Given the description of an element on the screen output the (x, y) to click on. 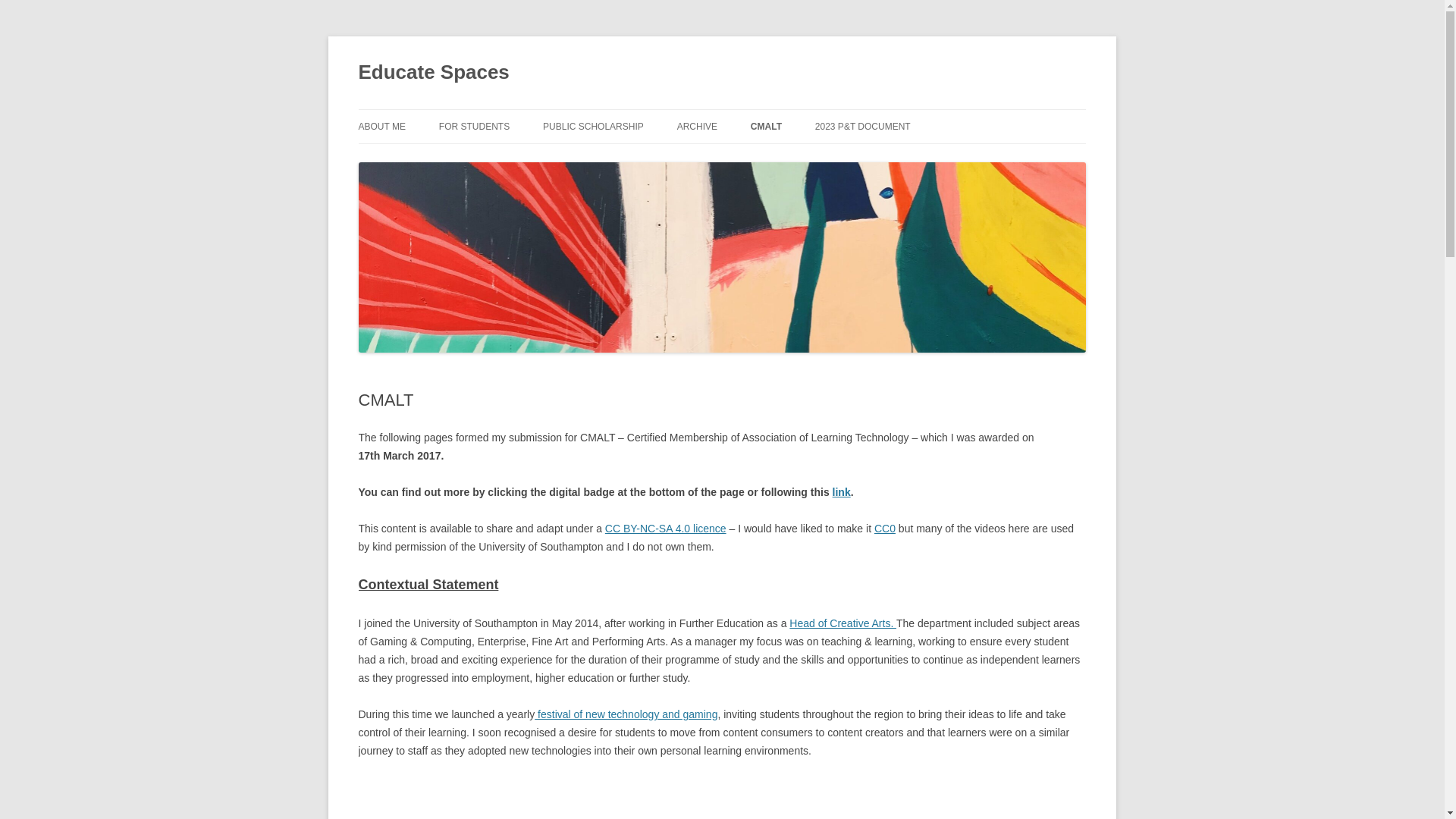
festival of new technology and gaming (625, 714)
Head of Creative Arts. (842, 623)
CC0 (885, 528)
PUBLIC SCHOLARSHIP (593, 126)
link (841, 491)
Educate Spaces (433, 72)
CC BY-NC-SA 4.0 licence (665, 528)
CORE 1: OPERATIONAL ISSUES (826, 158)
CMALT (766, 126)
SEMESTER PLAN (618, 158)
CV (752, 158)
FOR STUDENTS (474, 126)
ARCHIVE (697, 126)
Byte fair Fareham College Head of Media Stephan Casper (594, 798)
ABOUT ME (381, 126)
